Given the description of an element on the screen output the (x, y) to click on. 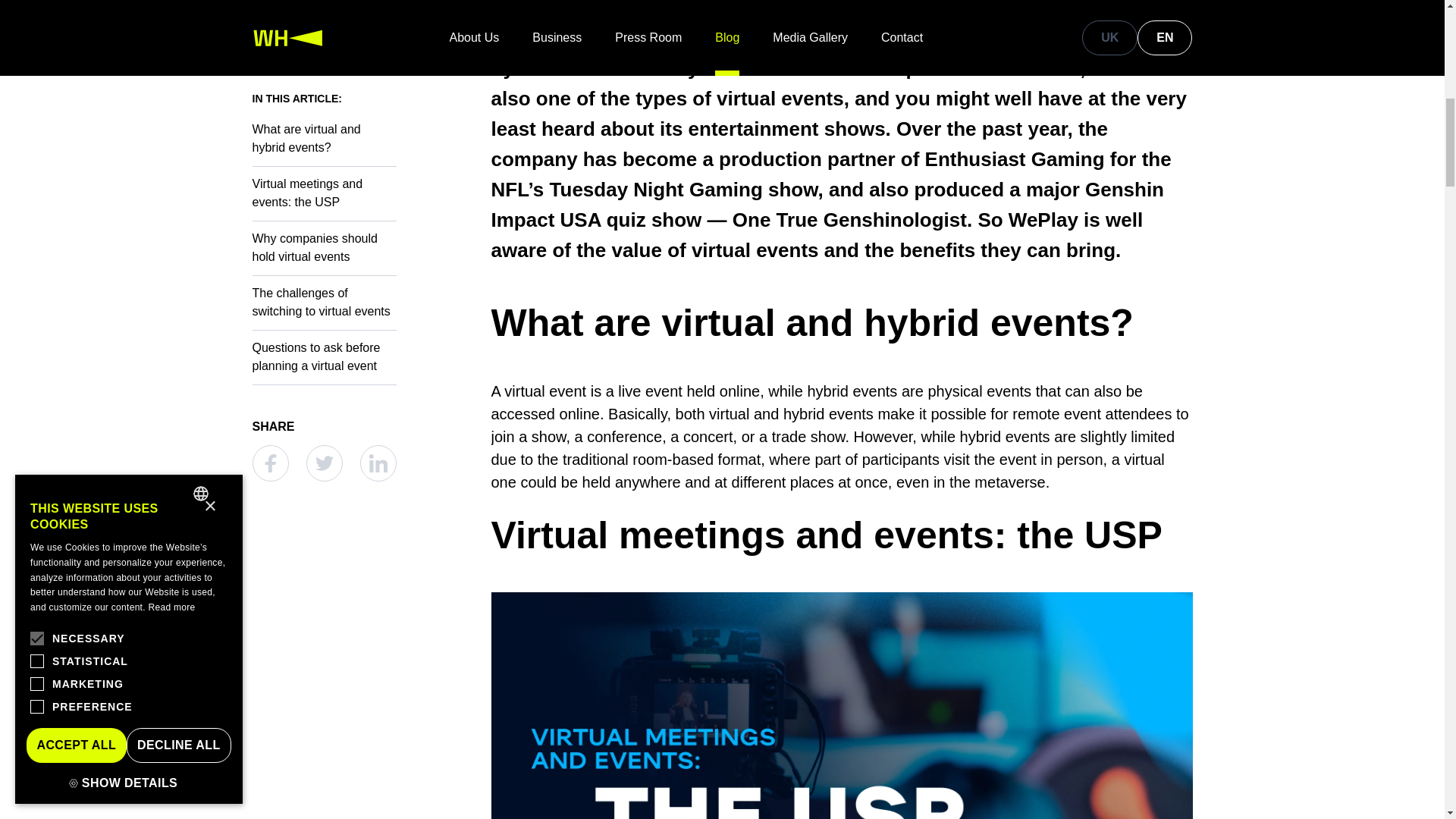
The challenges of switching to virtual events (323, 111)
Virtual meetings and events: the USP (323, 14)
Virtual meetings and events: the USP (842, 534)
The challenges of switching to virtual events (323, 111)
Virtual meetings and events: the USP (323, 14)
Questions to ask before planning a virtual event (323, 165)
Questions to ask before planning a virtual event (323, 165)
Why companies should hold virtual events (323, 56)
What are virtual and hybrid events? (842, 322)
Why companies should hold virtual events (323, 56)
